Given the description of an element on the screen output the (x, y) to click on. 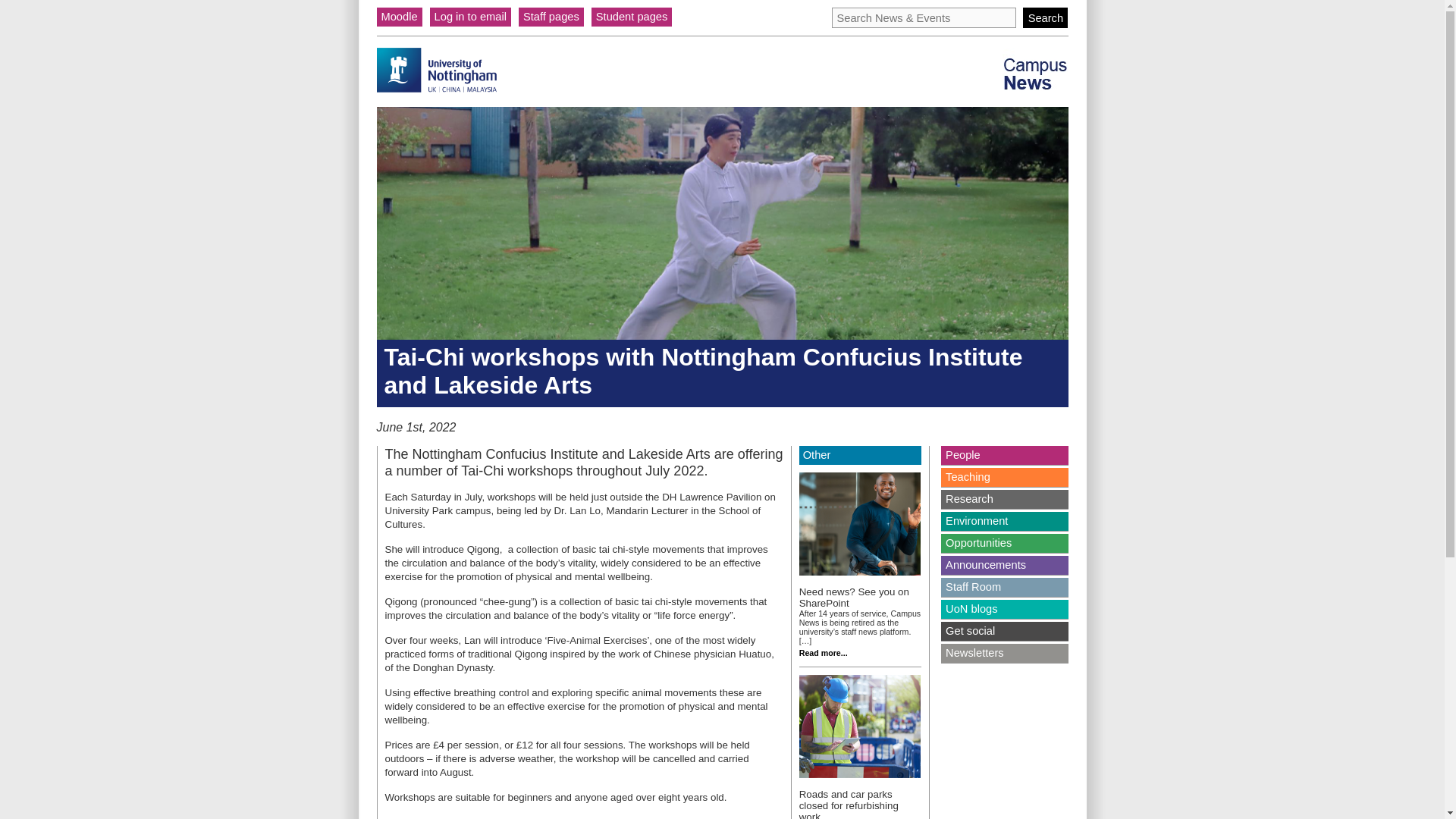
Log in to email (470, 16)
People (1003, 455)
Research (1003, 498)
Roads and car parks closed for refurbishing work (848, 803)
Newsletters (1003, 652)
Teaching (1003, 476)
Staff Room (1003, 587)
Get social (1003, 630)
Search (1045, 17)
Search (1045, 17)
